Given the description of an element on the screen output the (x, y) to click on. 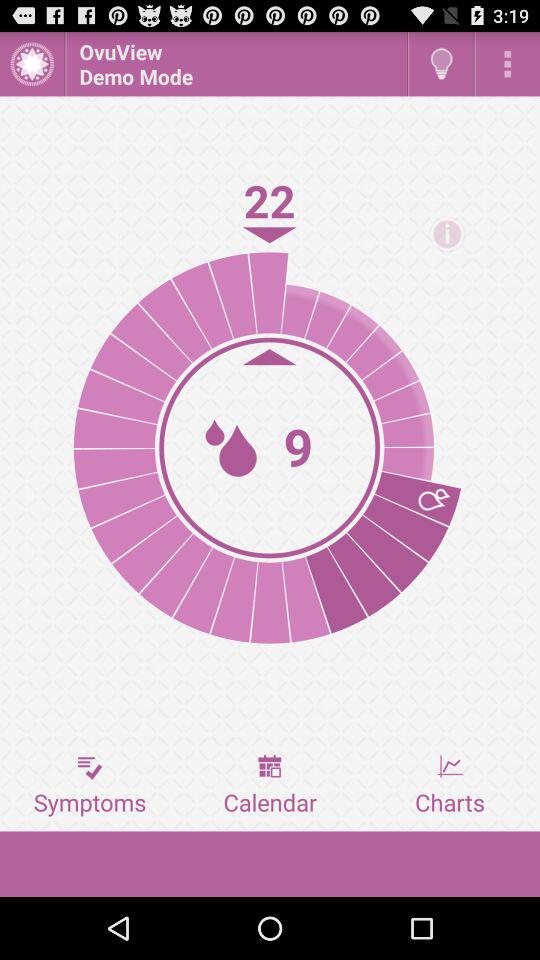
select the button to the right of the calendar icon (450, 785)
